Given the description of an element on the screen output the (x, y) to click on. 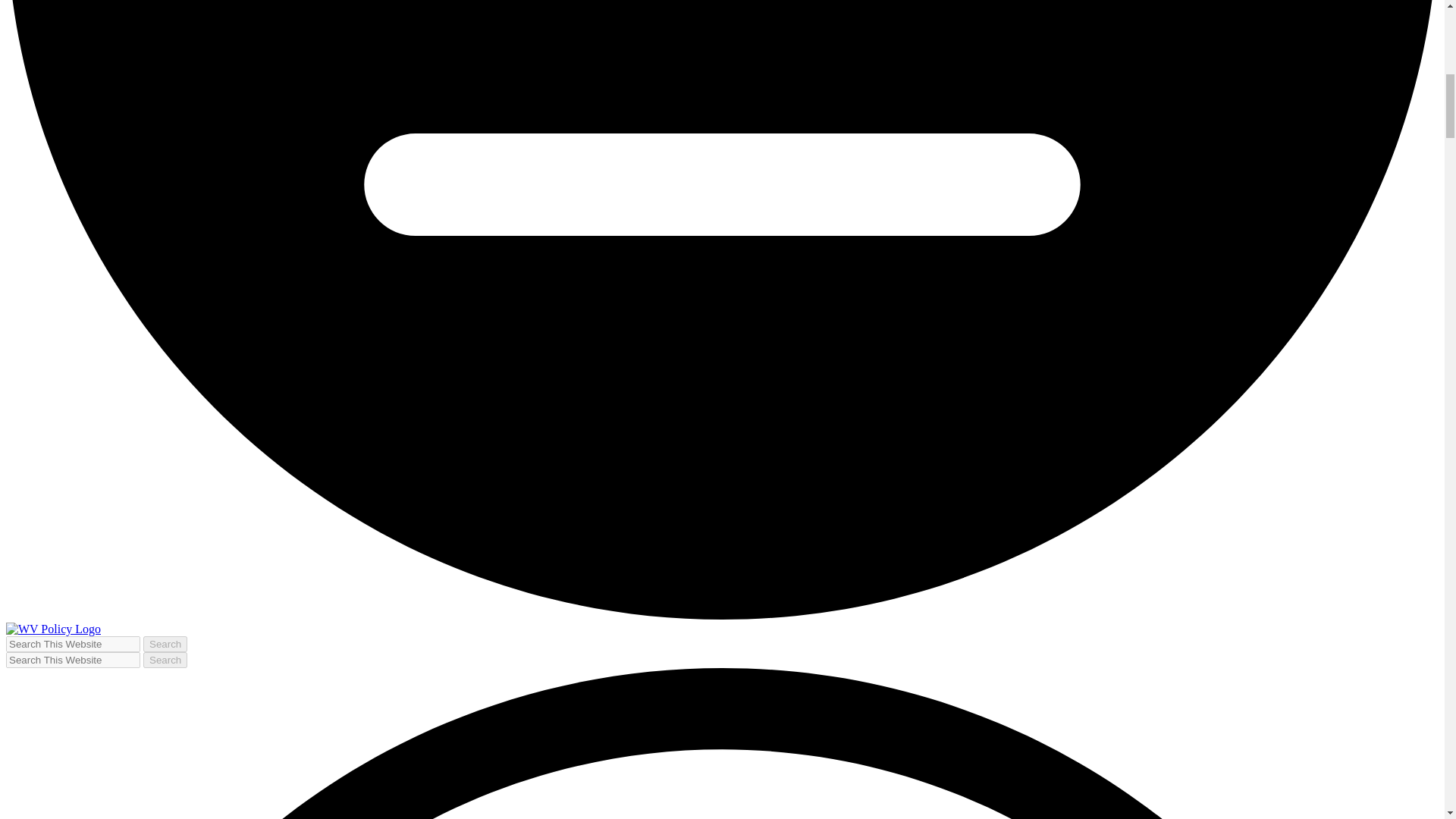
Search (164, 643)
Search (164, 659)
Search (164, 659)
Search (164, 659)
Search (164, 643)
Search (164, 643)
